Given the description of an element on the screen output the (x, y) to click on. 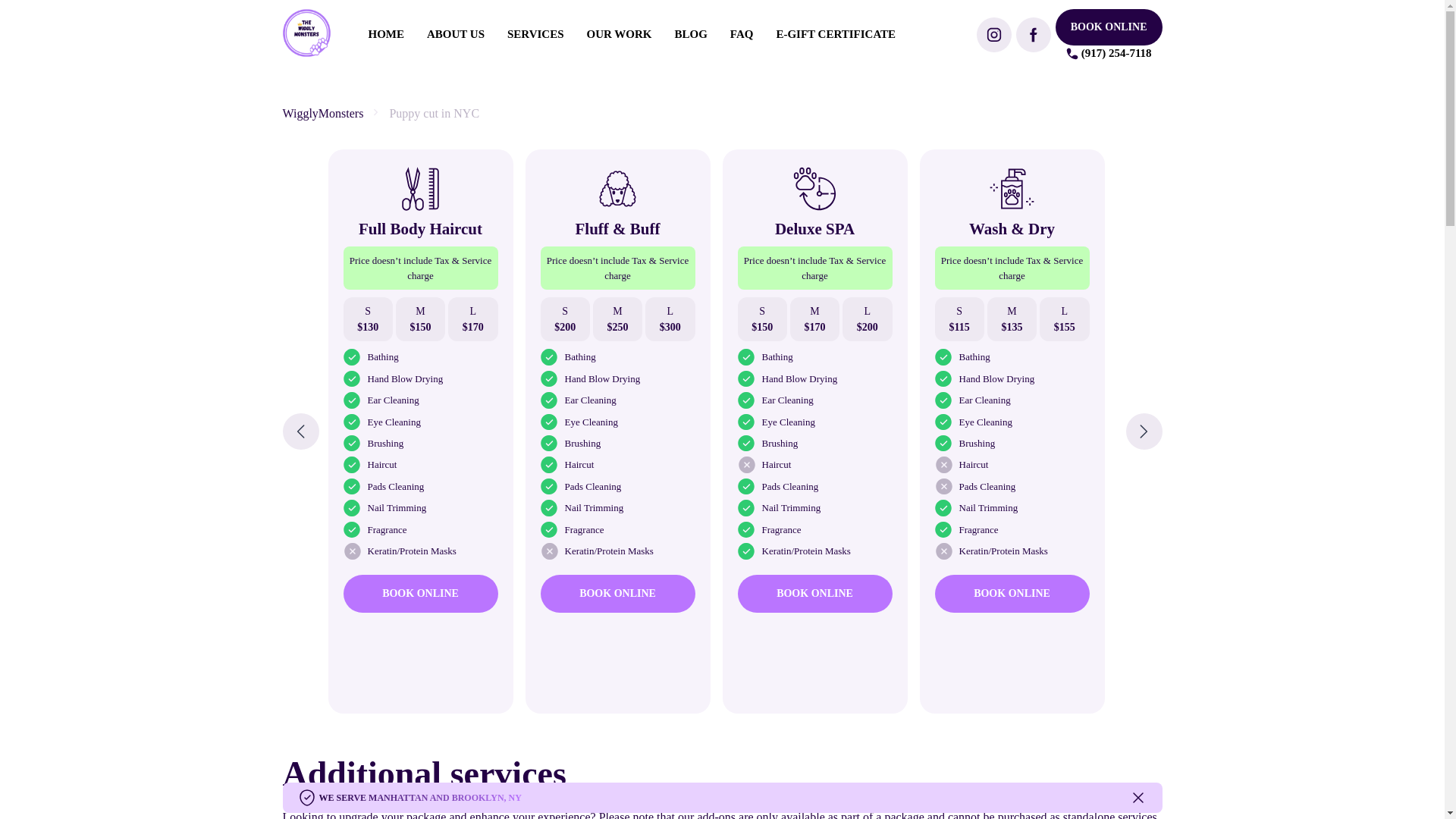
BOOK ONLINE (617, 593)
OUR WORK (619, 33)
BOOK ONLINE (813, 593)
BLOG (691, 33)
HOME (386, 33)
BOOK ONLINE (1011, 593)
BOOK ONLINE (1108, 27)
BOOK ONLINE (419, 593)
ABOUT US (455, 33)
Go to WigglyMonsters. (322, 113)
